Given the description of an element on the screen output the (x, y) to click on. 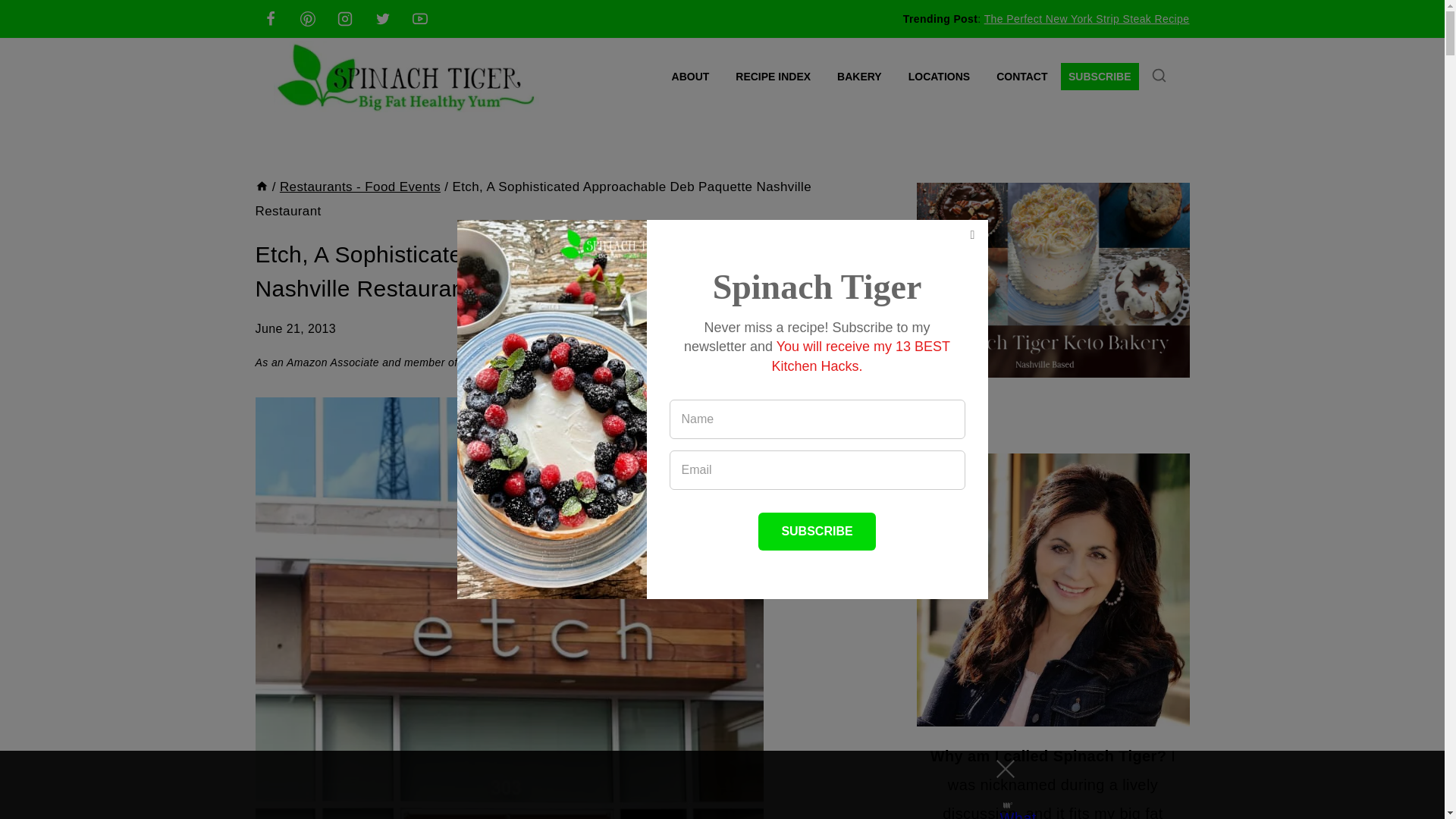
Home (260, 186)
ABOUT (690, 76)
RECIPE INDEX (773, 76)
SUBSCRIBE (1099, 76)
BAKERY (859, 76)
LOCATIONS (938, 76)
3rd party ad content (708, 785)
CONTACT (1022, 76)
Restaurants - Food Events (360, 186)
The Perfect New York Strip Steak Recipe (1086, 19)
